Given the description of an element on the screen output the (x, y) to click on. 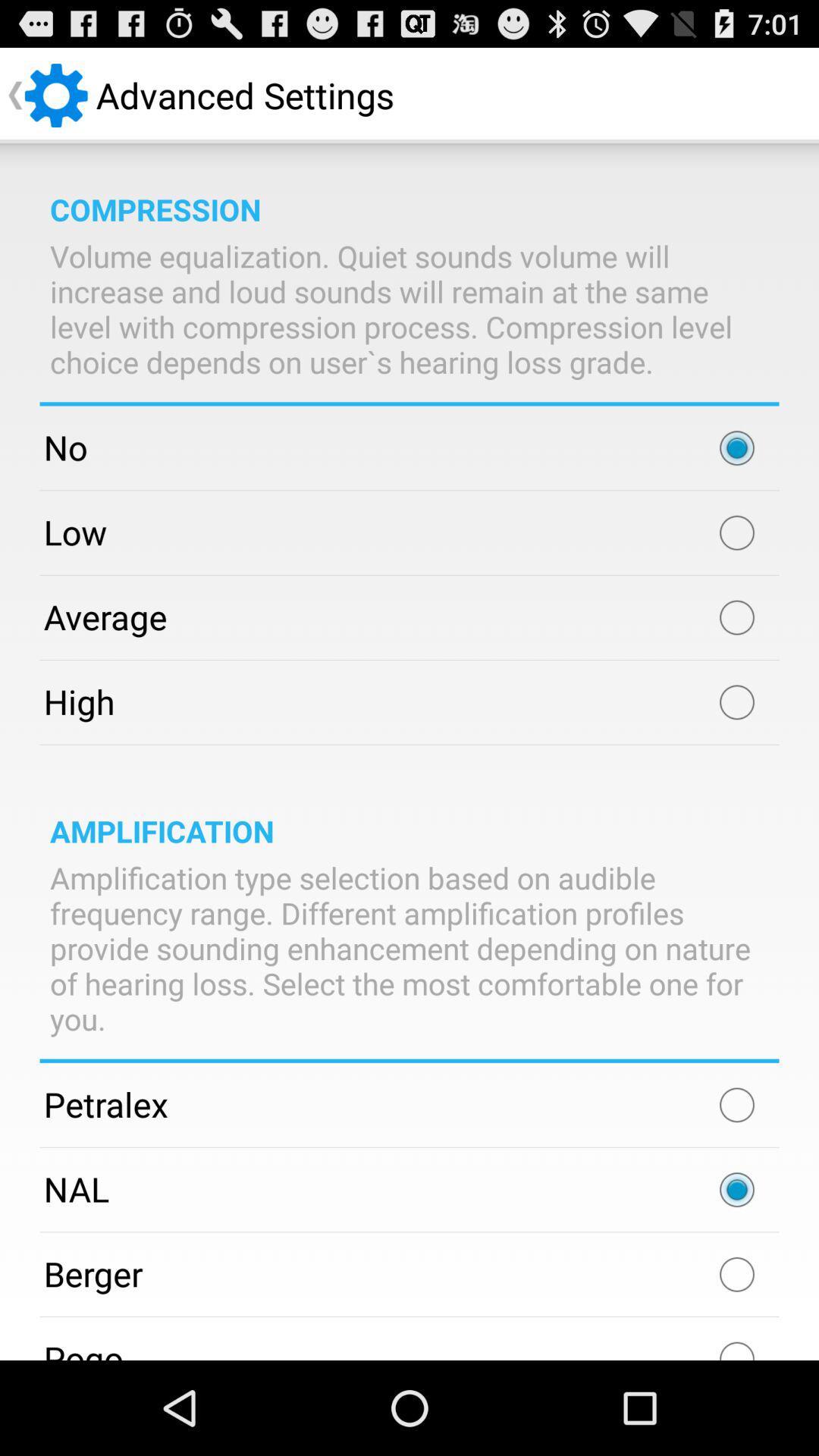
radio select button (736, 448)
